Given the description of an element on the screen output the (x, y) to click on. 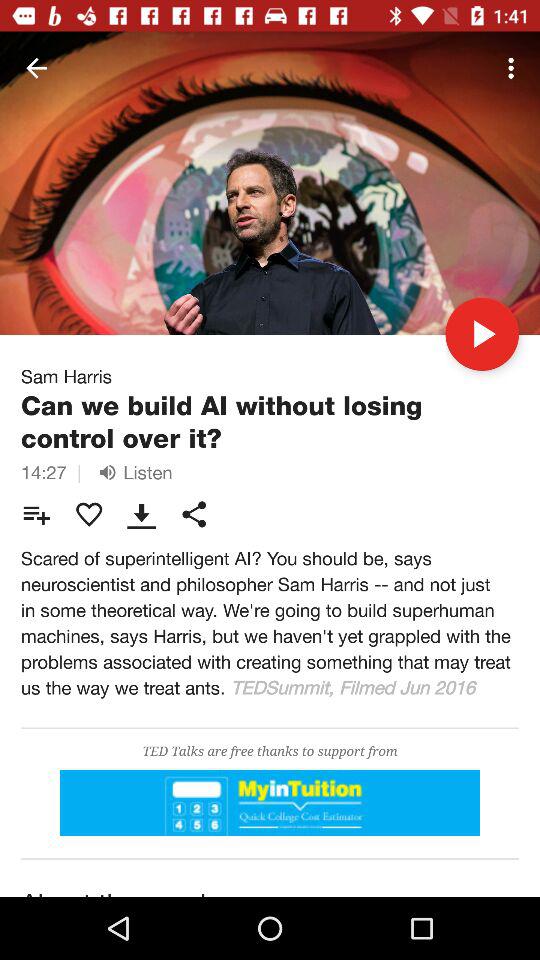
advertisement (270, 802)
